Given the description of an element on the screen output the (x, y) to click on. 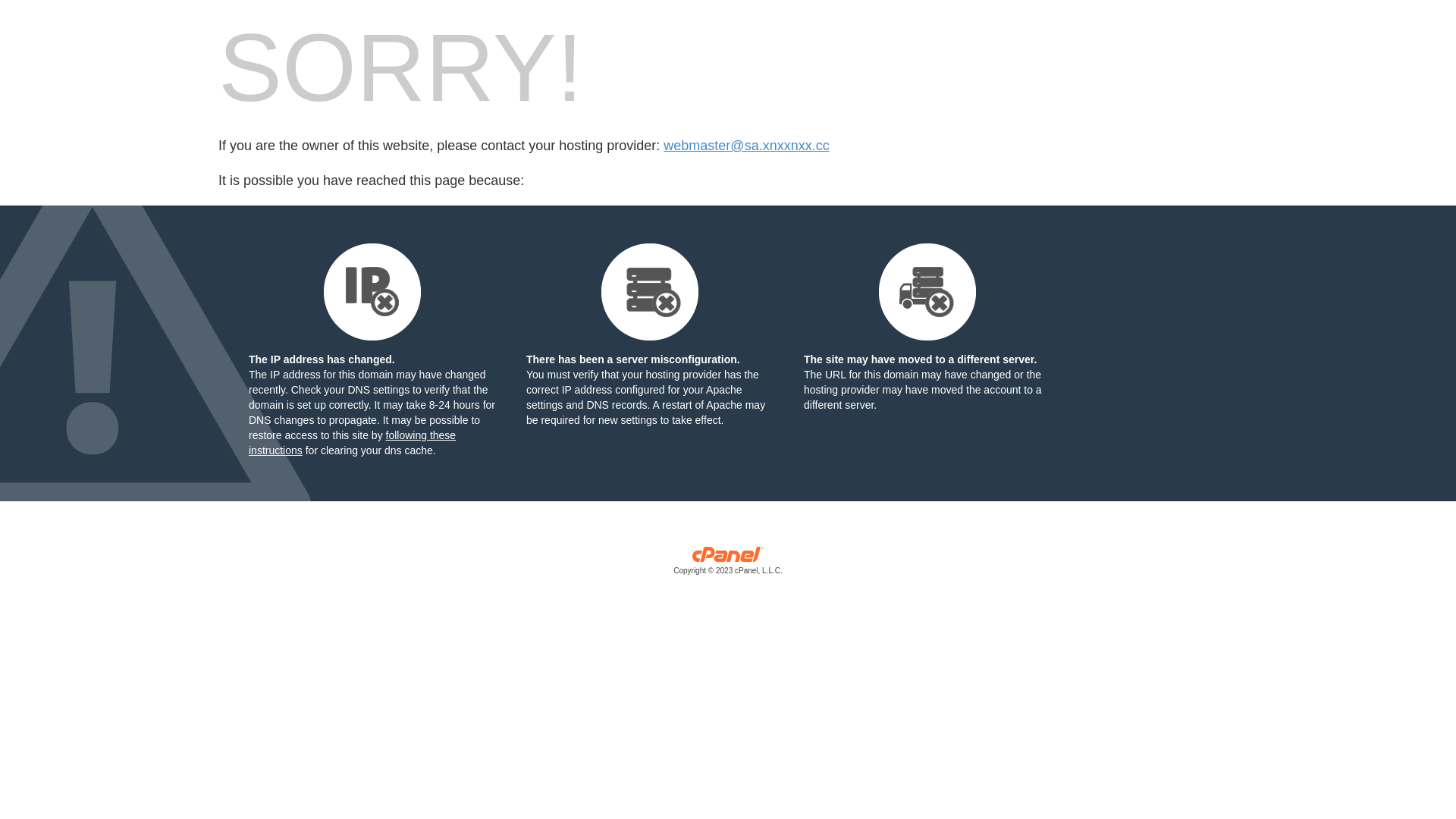
webmaster@sa.xnxxnxx.cc Element type: text (745, 145)
following these instructions Element type: text (351, 442)
